Given the description of an element on the screen output the (x, y) to click on. 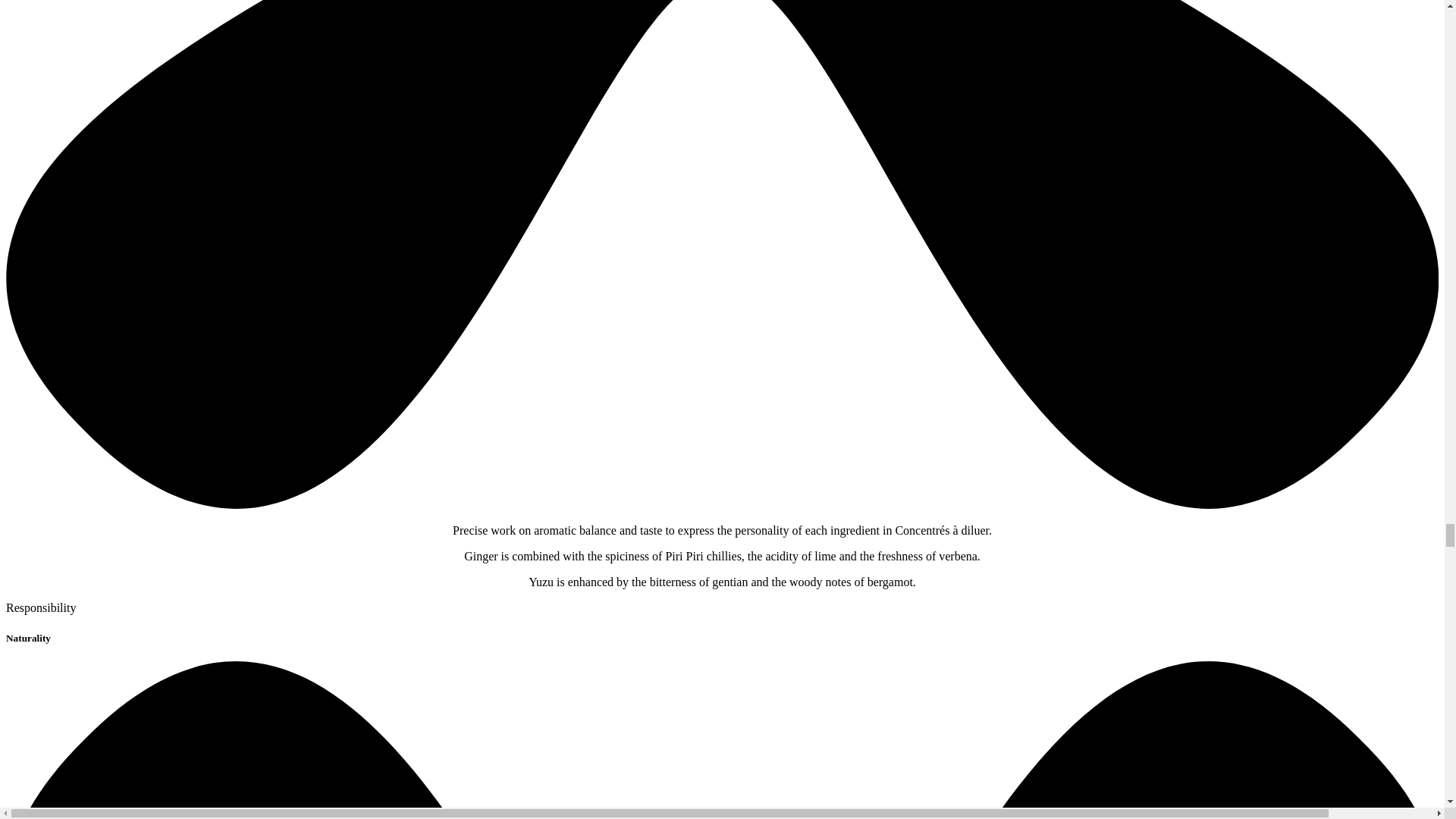
Page 2 (721, 556)
